Given the description of an element on the screen output the (x, y) to click on. 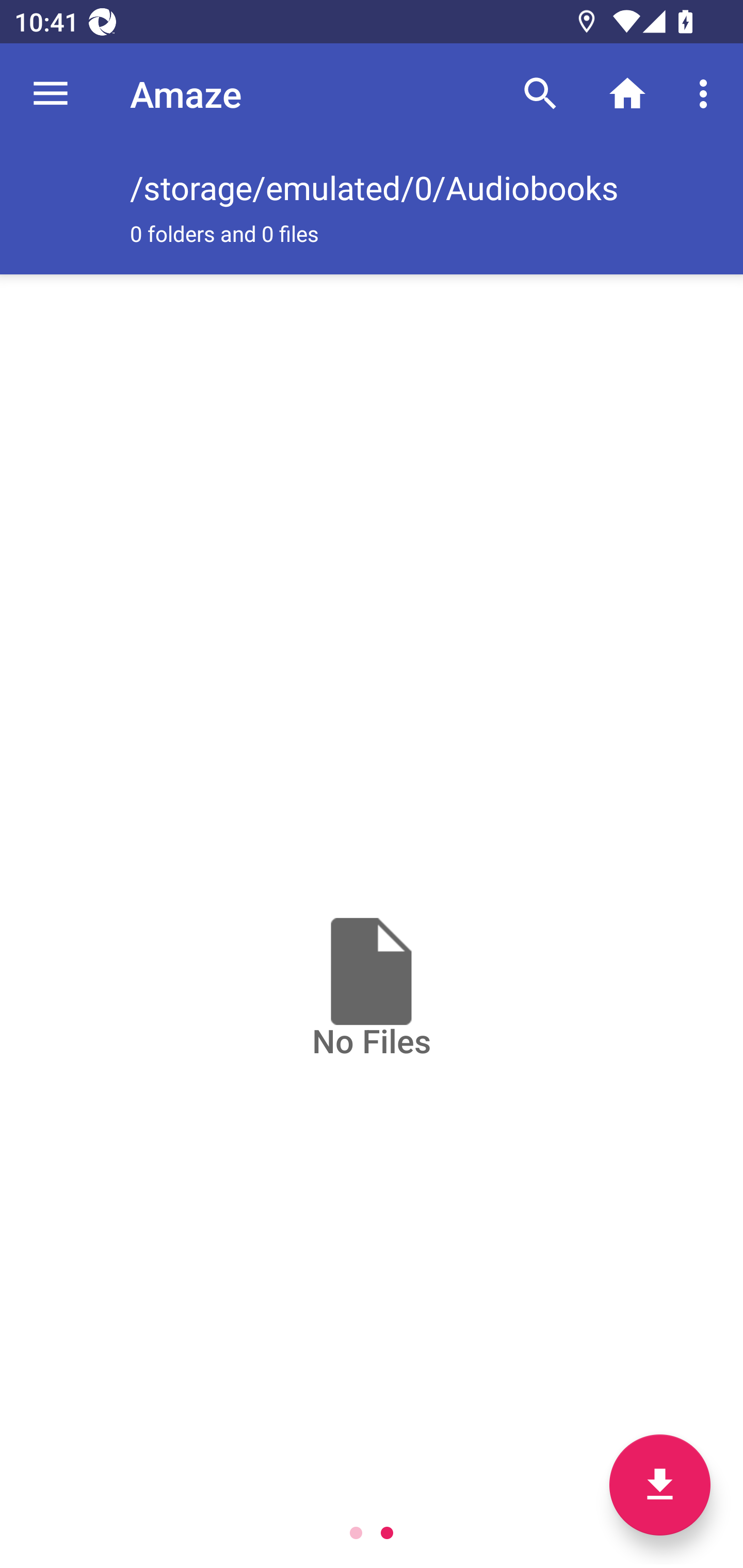
Navigate up (50, 93)
Search (540, 93)
Home (626, 93)
More options (706, 93)
